Given the description of an element on the screen output the (x, y) to click on. 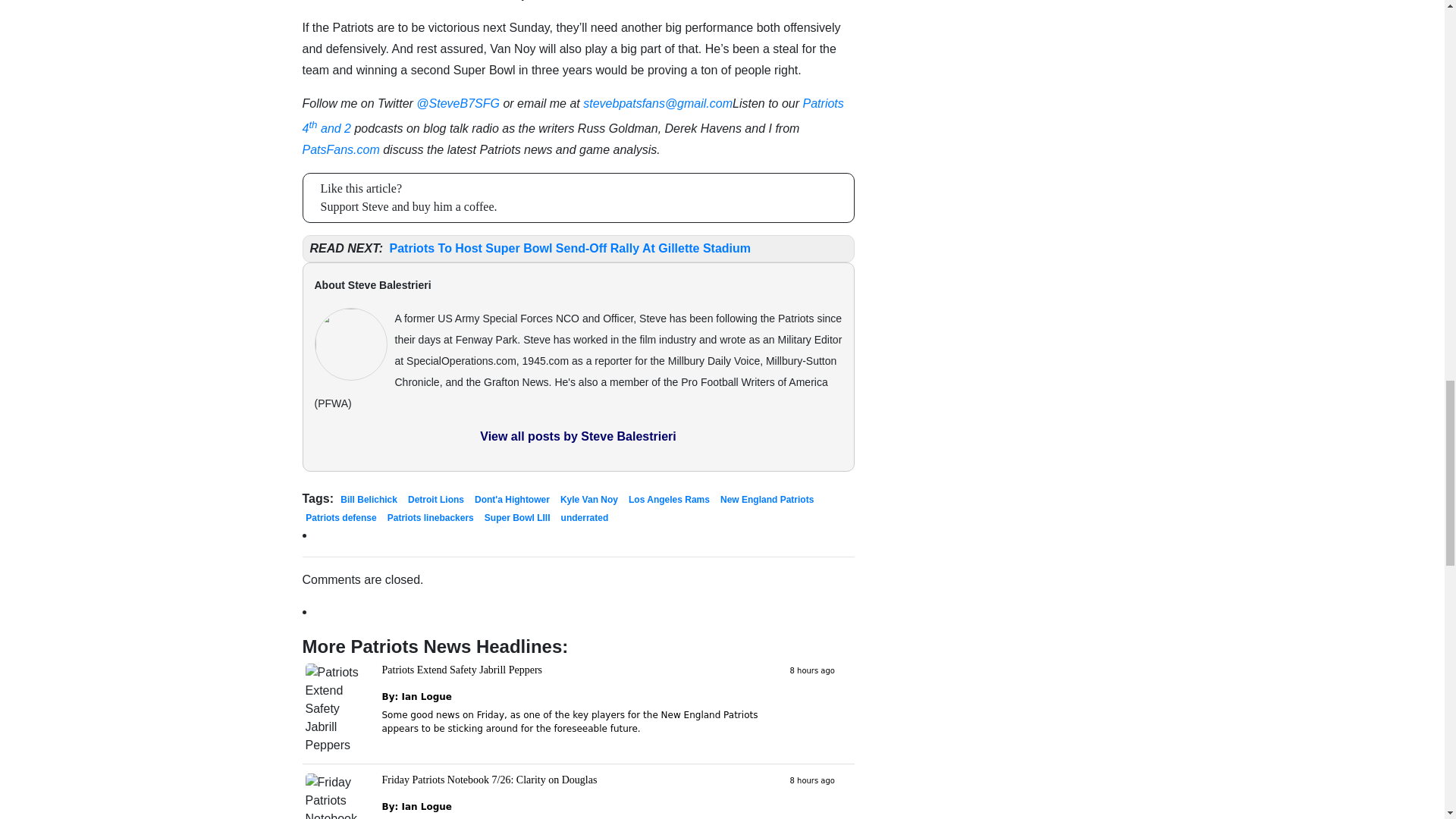
Ian Logue (426, 696)
Ian Logue (426, 806)
Patriots Extend Safety Jabrill Peppers (462, 669)
